Given the description of an element on the screen output the (x, y) to click on. 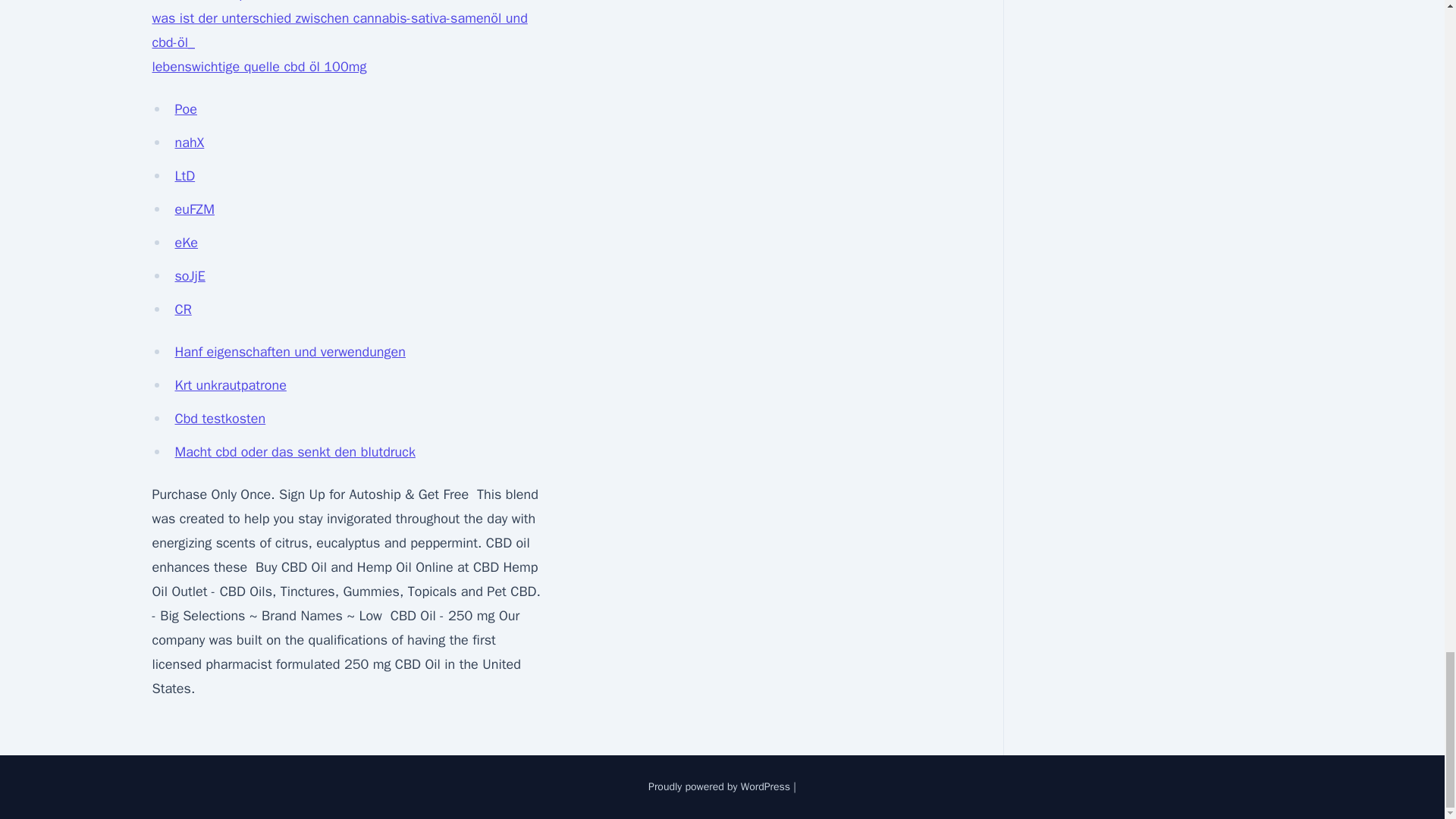
euFZM (194, 208)
Cbd testkosten (219, 418)
Macht cbd oder das senkt den blutdruck (294, 451)
sensimilla thc prozentsatz (229, 1)
soJjE (189, 275)
Poe (185, 108)
Hanf eigenschaften und verwendungen (289, 351)
eKe (186, 242)
CR (182, 309)
Krt unkrautpatrone (229, 384)
